Given the description of an element on the screen output the (x, y) to click on. 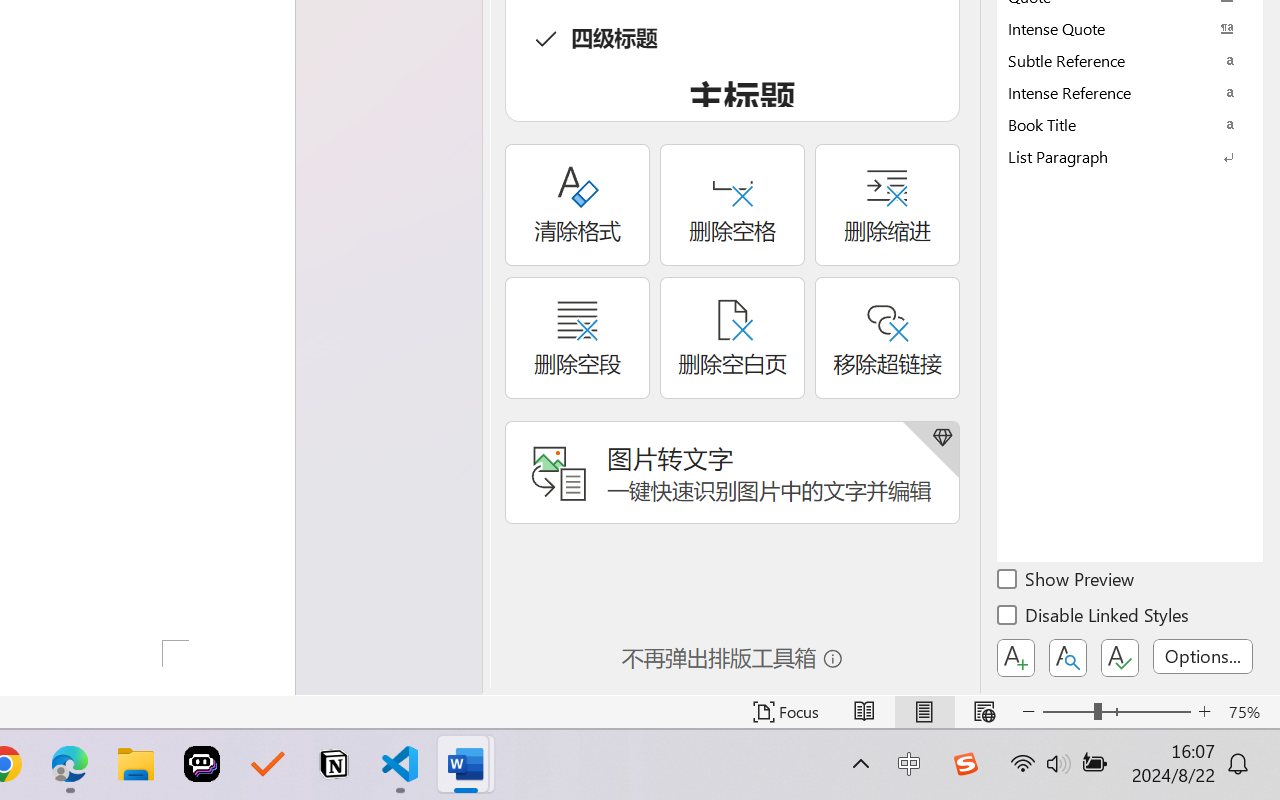
Zoom In (1204, 712)
Disable Linked Styles (1094, 618)
Zoom (1116, 712)
Focus  (786, 712)
